Given the description of an element on the screen output the (x, y) to click on. 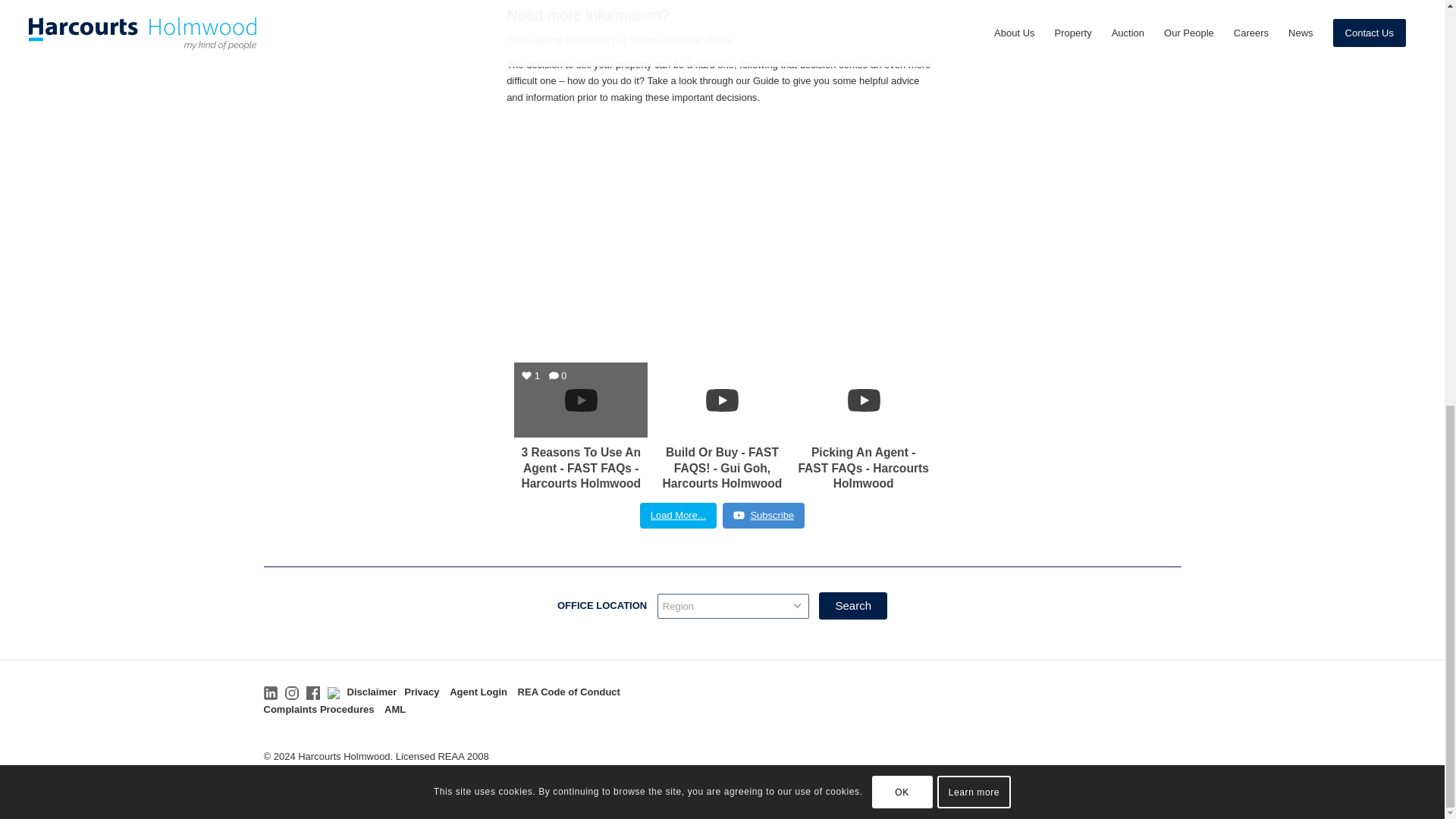
Load More... (678, 515)
Subscribe (763, 515)
